Given the description of an element on the screen output the (x, y) to click on. 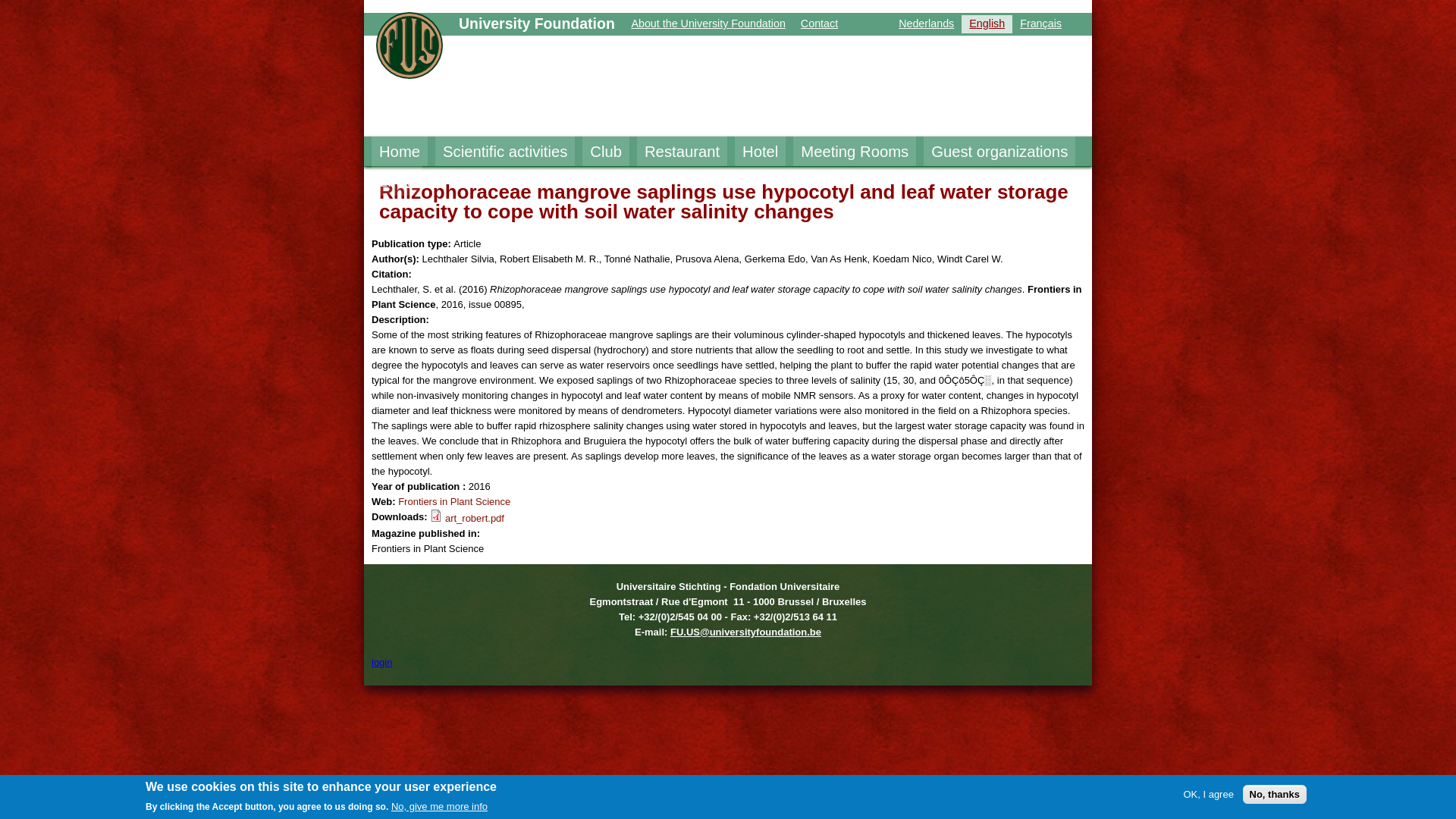
Restaurant (681, 151)
Guest organizations (999, 151)
login (381, 662)
Home (399, 151)
University Foundation (536, 23)
About the University Foundation (707, 24)
Frontiers in Plant Science (454, 501)
More info (454, 501)
Contact (819, 24)
Links (396, 181)
